Given the description of an element on the screen output the (x, y) to click on. 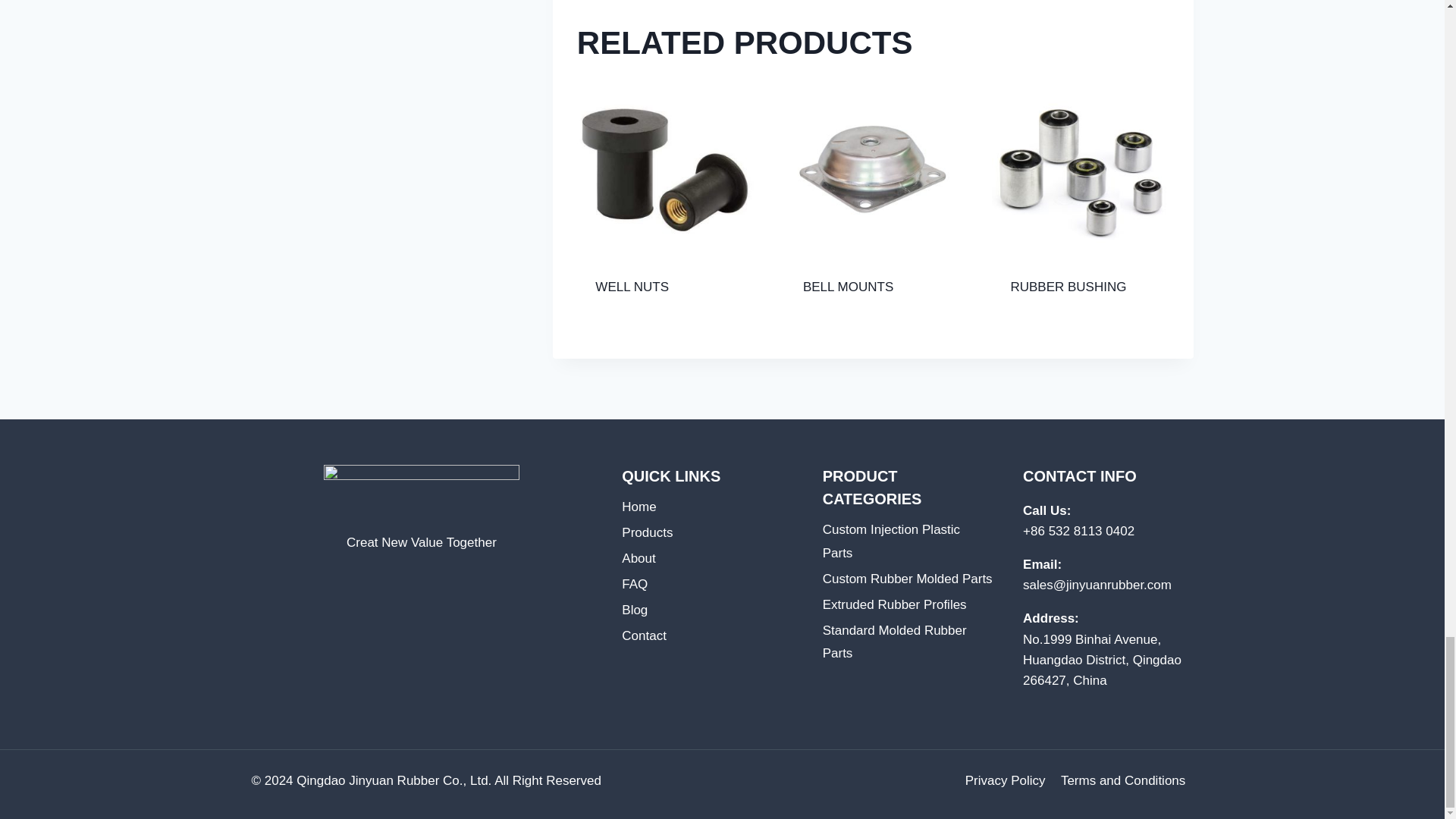
WELL NUTS (631, 287)
BELL MOUNTS (848, 287)
